Given the description of an element on the screen output the (x, y) to click on. 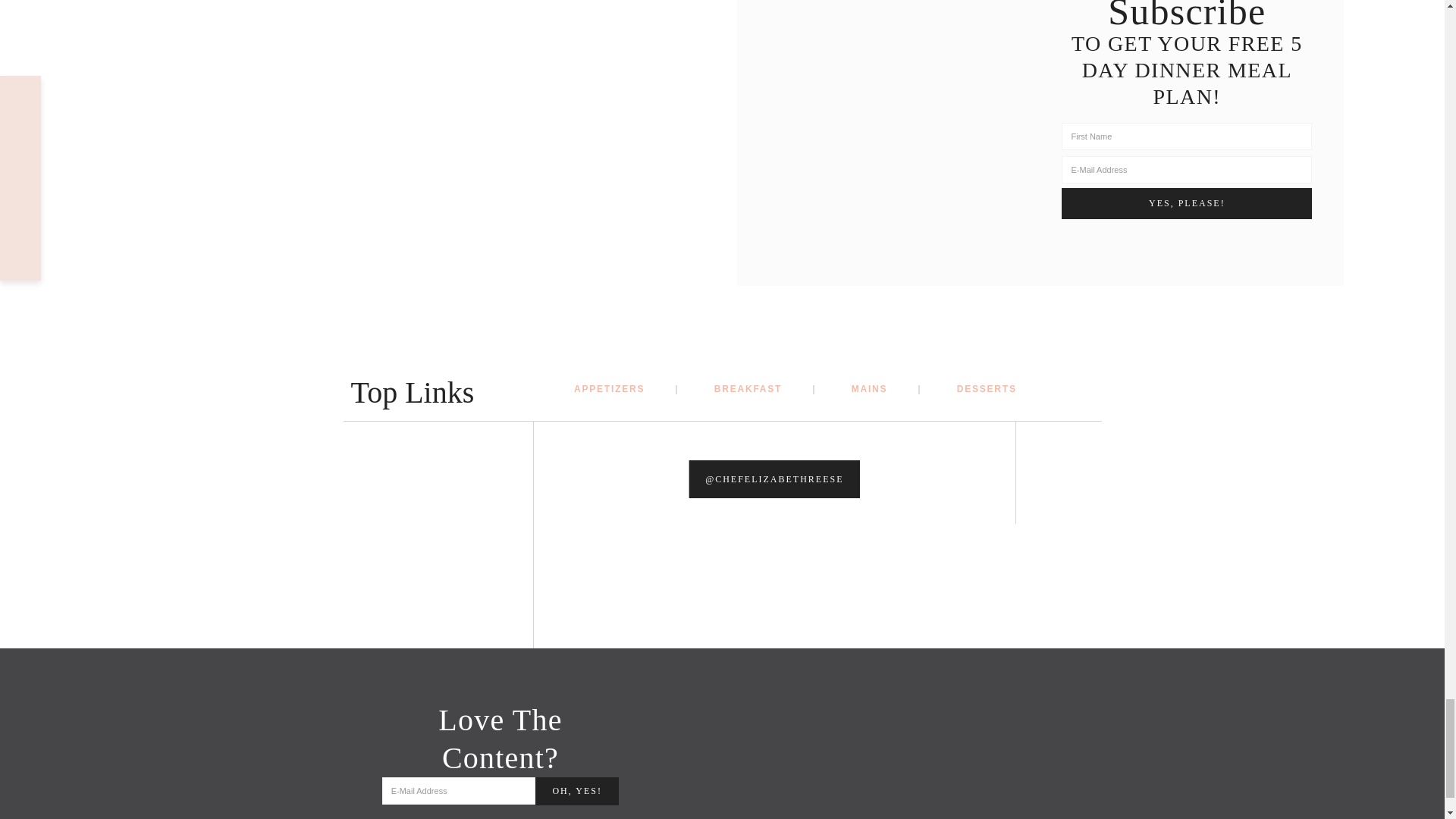
Yes, Please! (1186, 203)
MAINS (886, 388)
Oh, Yes! (576, 791)
BREAKFAST (765, 388)
APPETIZERS (626, 388)
DESSERTS (986, 388)
Yes, Please! (1186, 203)
